Given the description of an element on the screen output the (x, y) to click on. 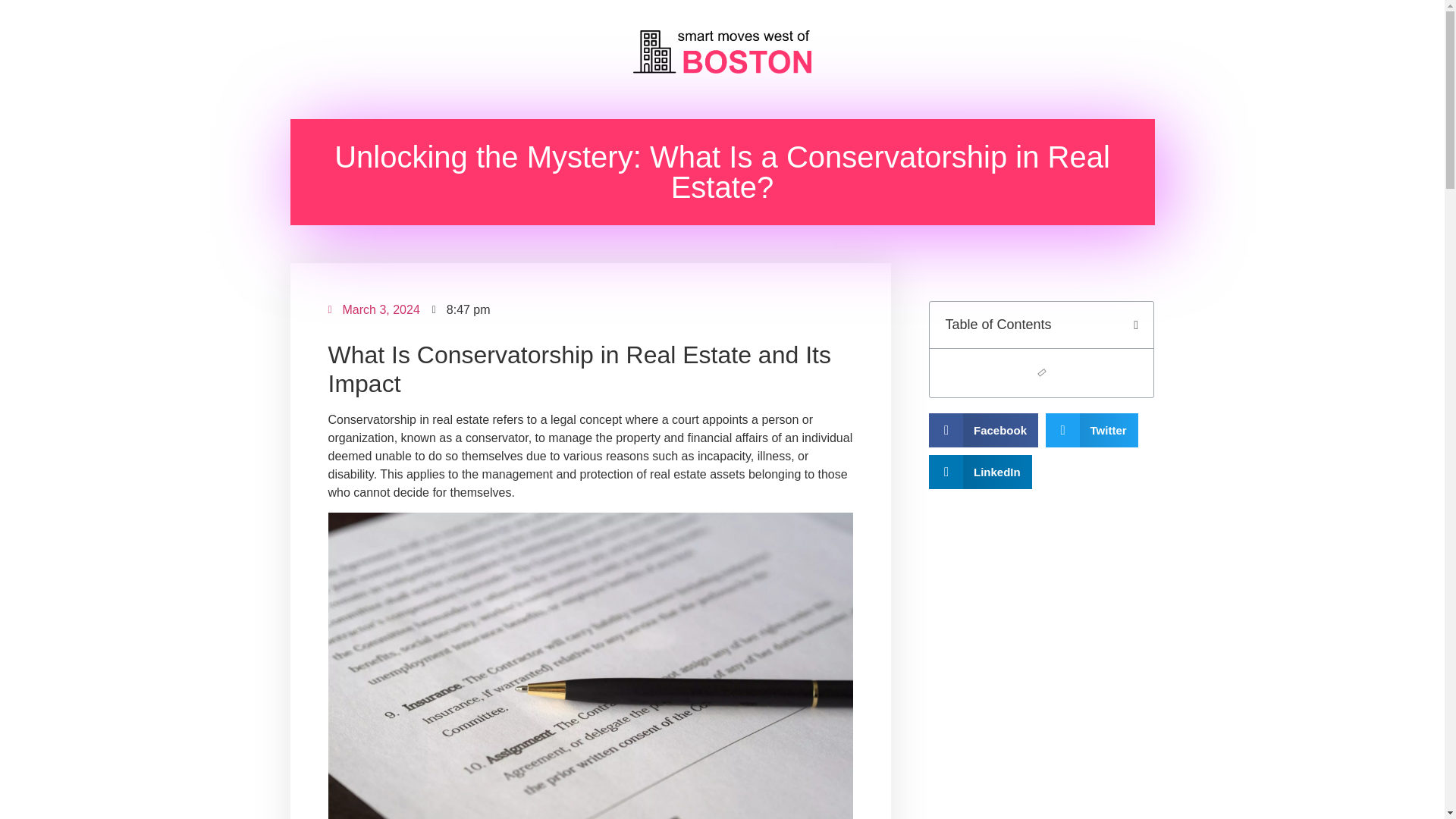
March 3, 2024 (373, 310)
